Given the description of an element on the screen output the (x, y) to click on. 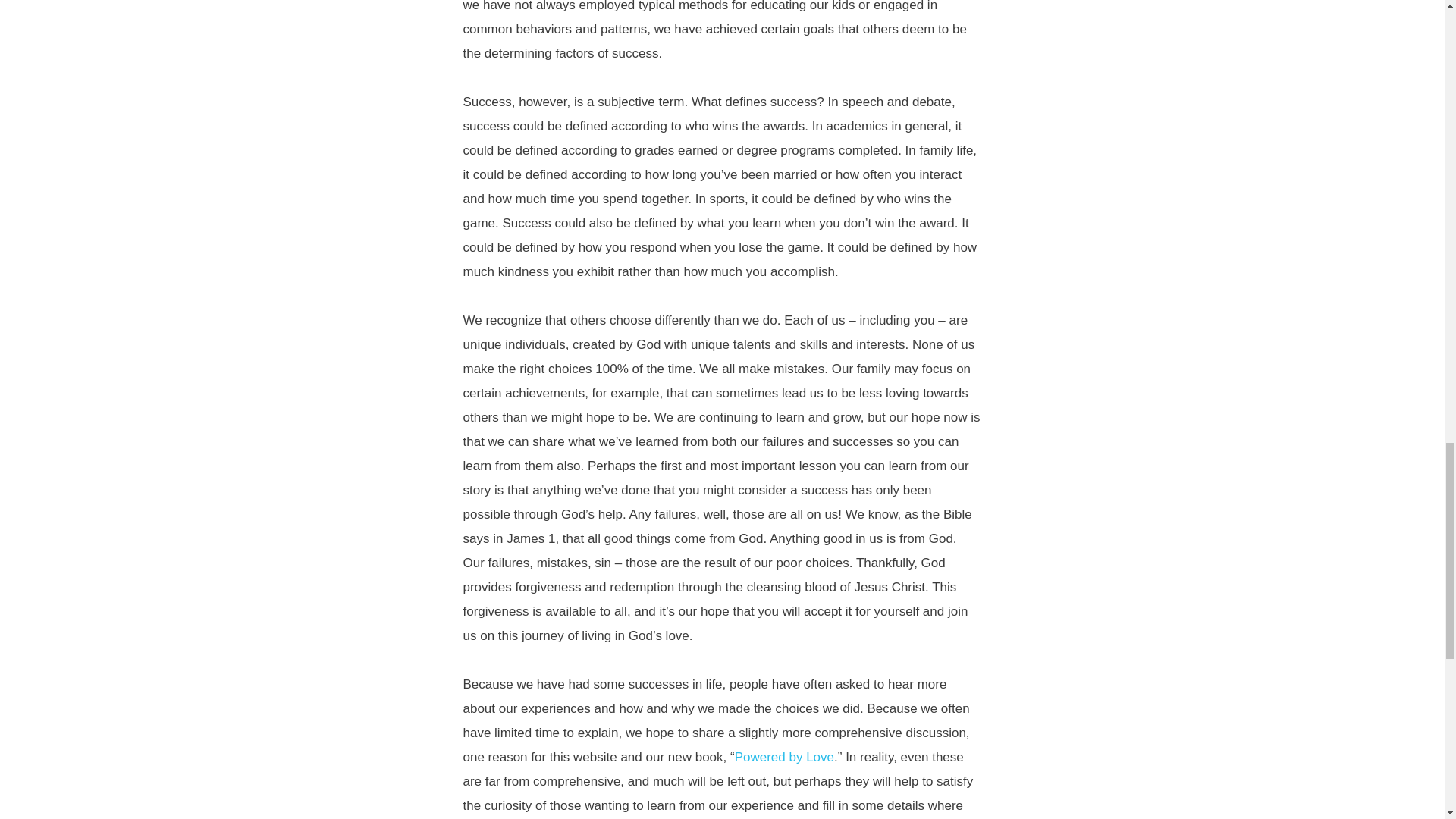
Powered by Love (784, 756)
